Given the description of an element on the screen output the (x, y) to click on. 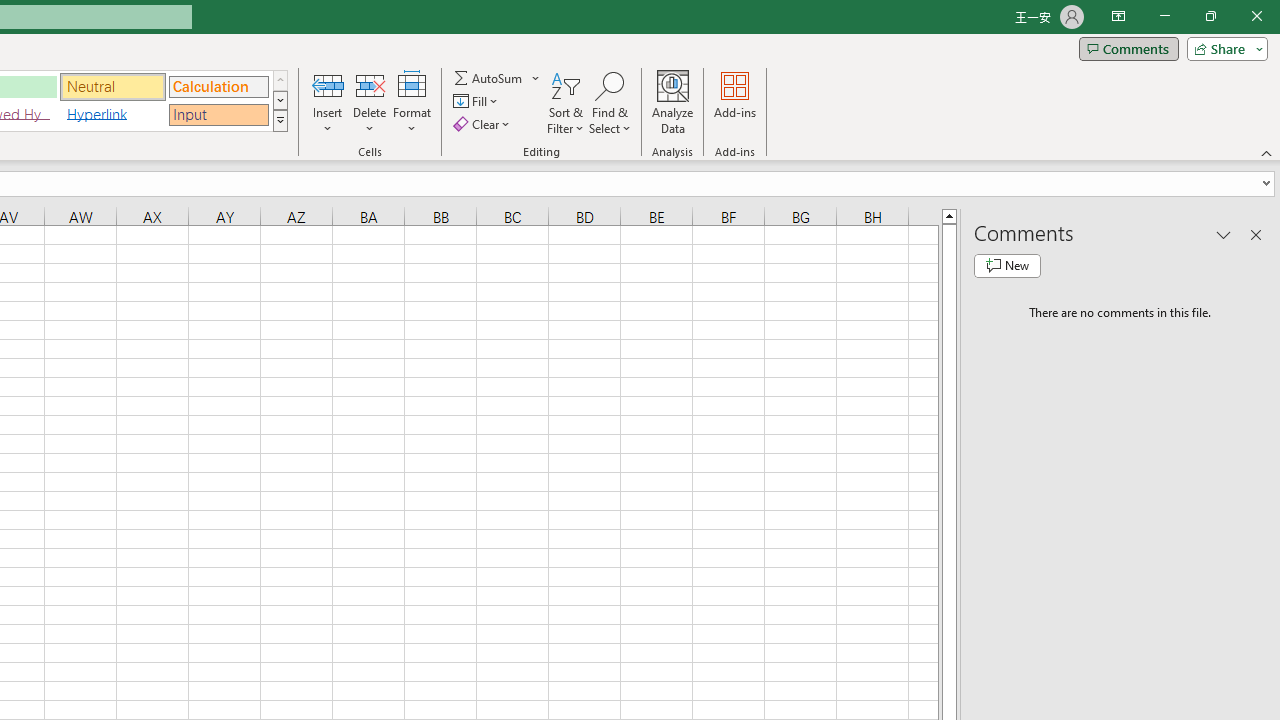
Format (411, 102)
Sort & Filter (566, 102)
Row up (280, 79)
Delete Cells... (369, 84)
New comment (1007, 265)
Sum (489, 78)
Insert Cells (328, 84)
Class: NetUIImage (280, 120)
